Given the description of an element on the screen output the (x, y) to click on. 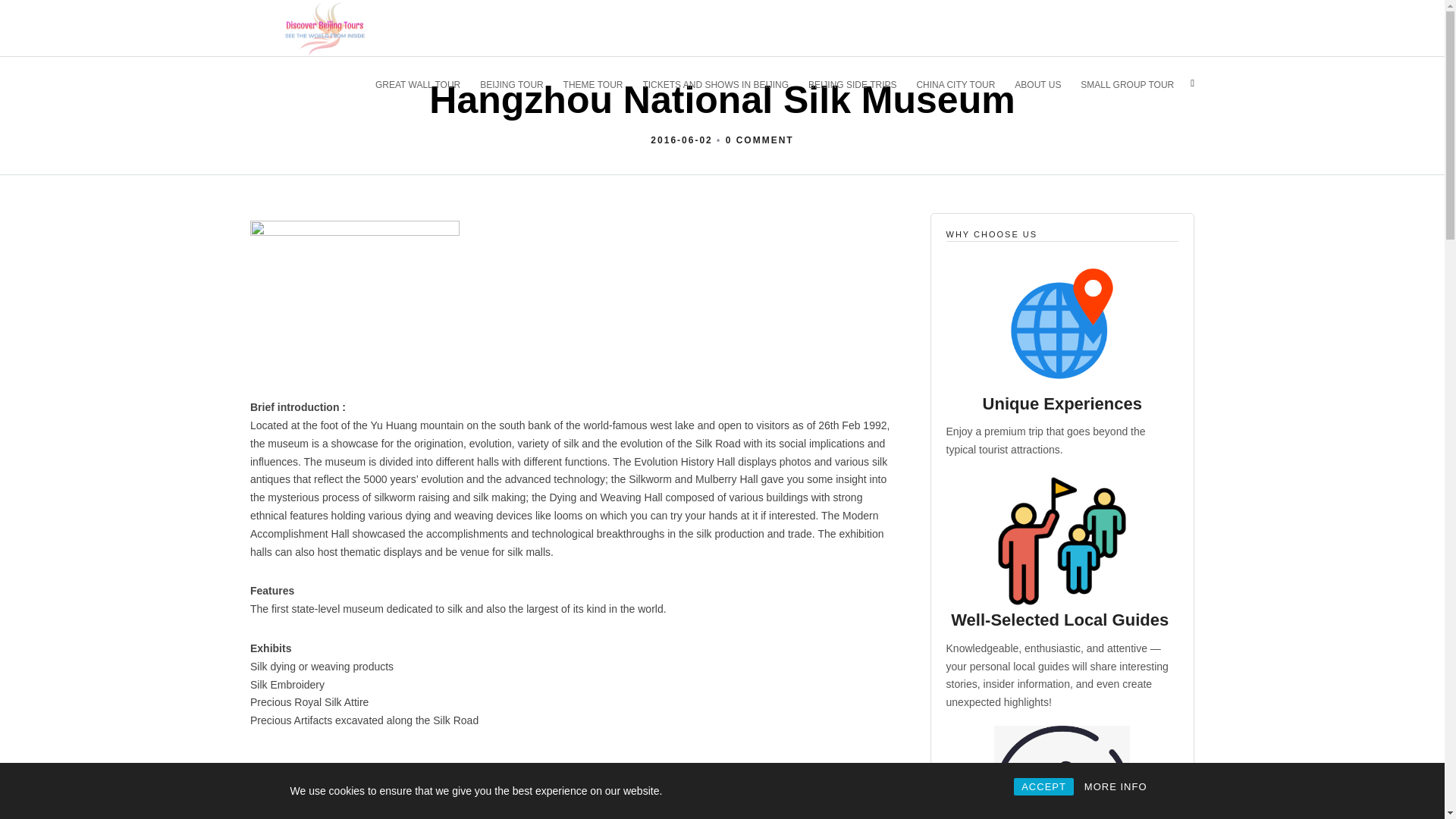
2016-06-02 (680, 140)
BEIJING SIDE TRIPS (858, 83)
SMALL GROUP TOUR (1133, 83)
ACCEPT (1043, 786)
TICKETS AND SHOWS IN BEIJING (722, 83)
MORE INFO (1115, 786)
0 COMMENT (759, 140)
Hangzhou National Silk Museum (680, 140)
GREAT WALL TOUR (424, 83)
BEIJING TOUR (518, 83)
